Given the description of an element on the screen output the (x, y) to click on. 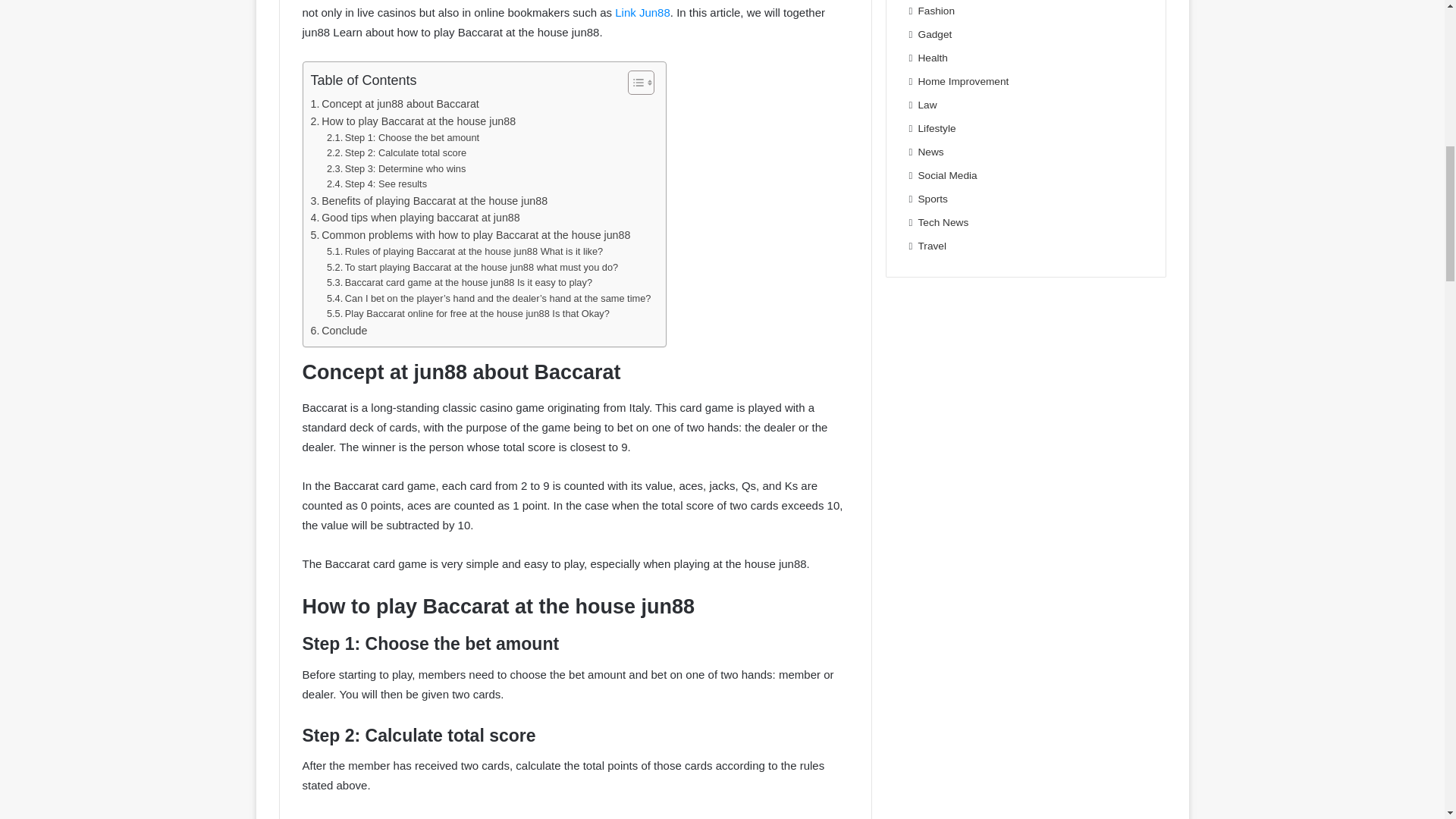
Benefits of playing Baccarat at the house jun88 (429, 200)
Link Jun88 (641, 11)
Concept at jun88 about Baccarat (395, 104)
Good tips when playing baccarat at jun88 (415, 217)
Step 4: See results (376, 184)
Step 3: Determine who wins (395, 169)
Step 2: Calculate total score (395, 153)
How to play Baccarat at the house jun88 (413, 121)
Step 1: Choose the bet amount (402, 138)
Common problems with how to play Baccarat at the house jun88 (470, 235)
